Given the description of an element on the screen output the (x, y) to click on. 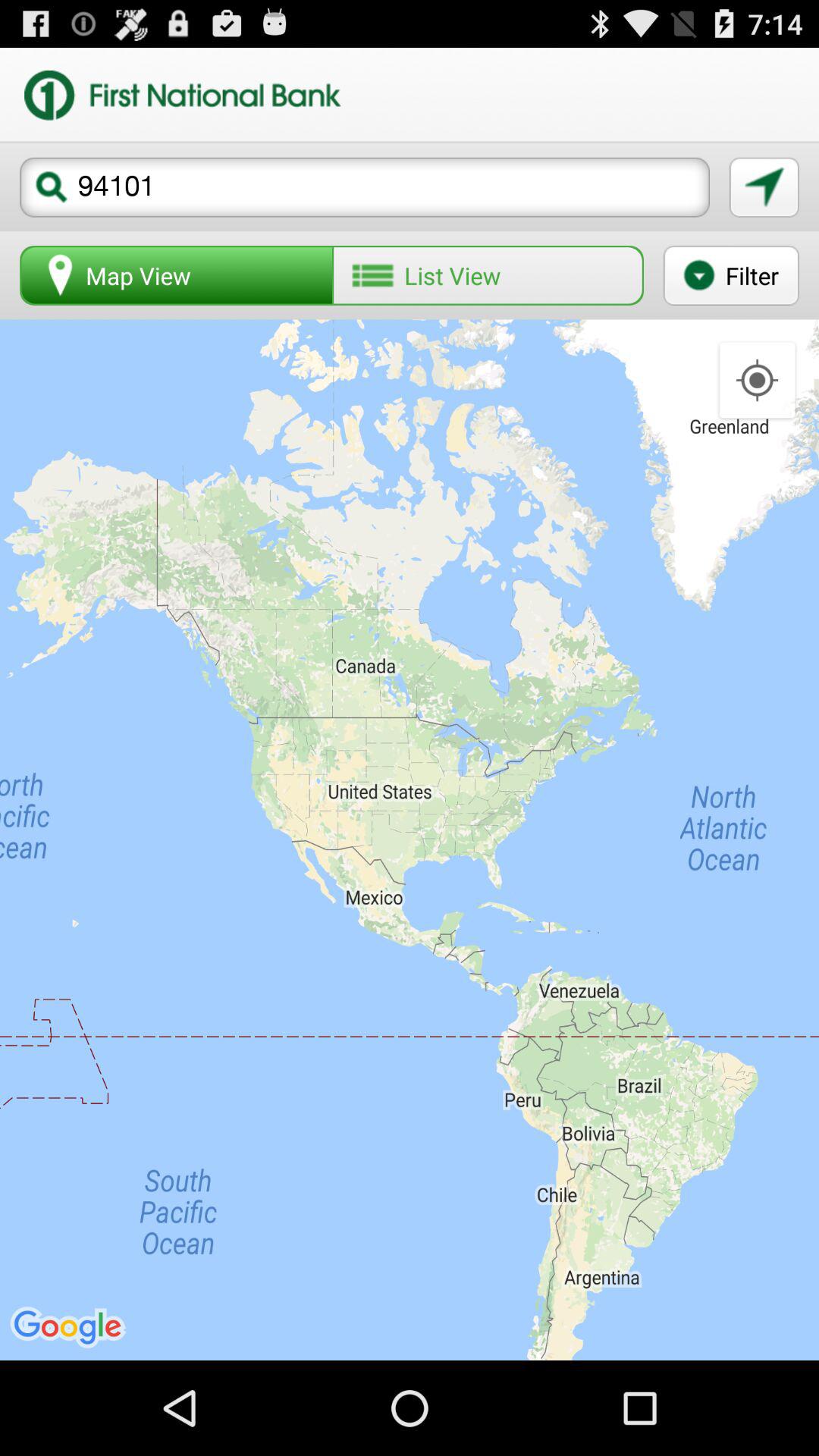
turn off button next to filter icon (487, 275)
